Given the description of an element on the screen output the (x, y) to click on. 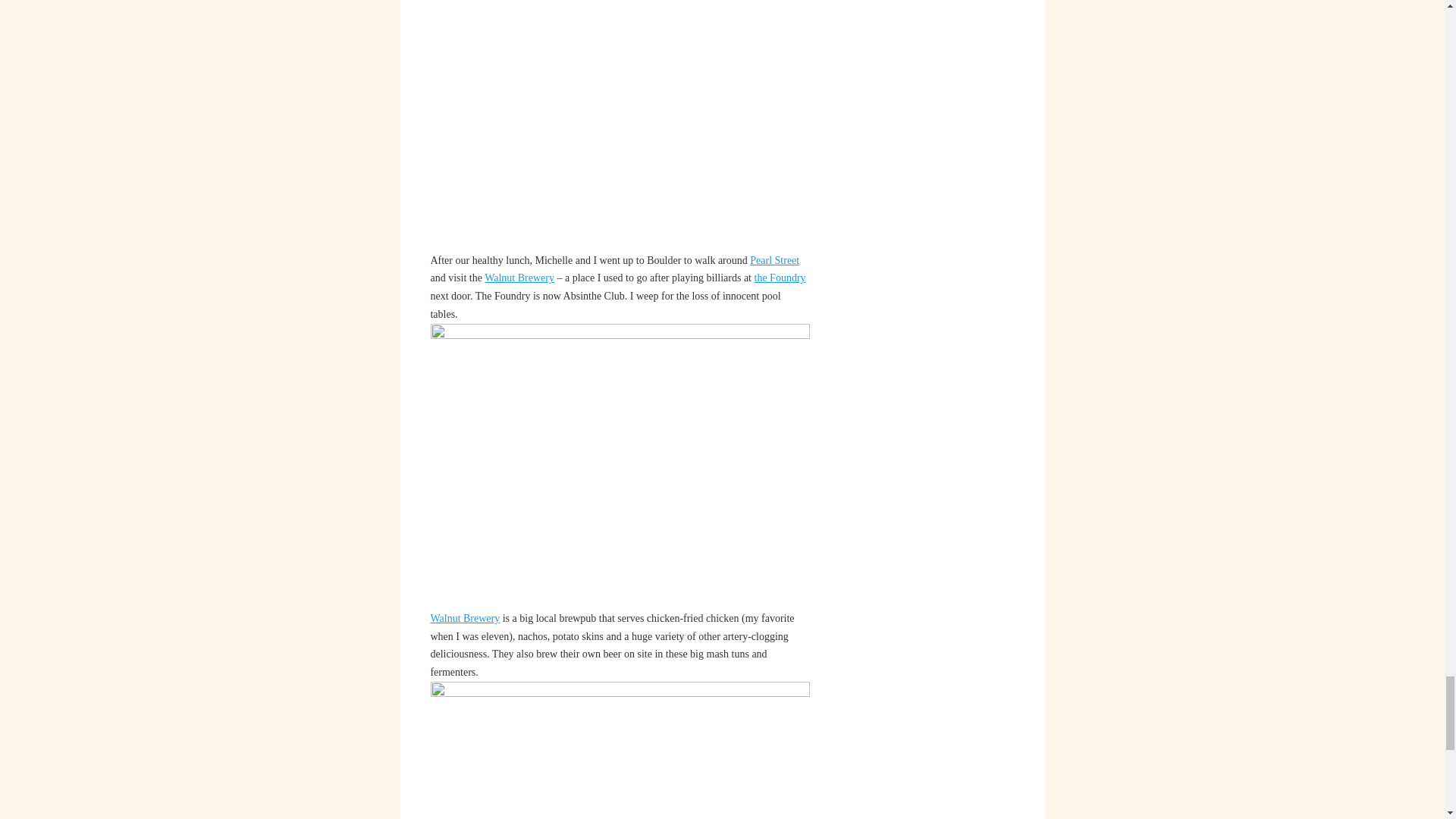
am4 (619, 125)
am5 (619, 465)
am6 (619, 750)
